Given the description of an element on the screen output the (x, y) to click on. 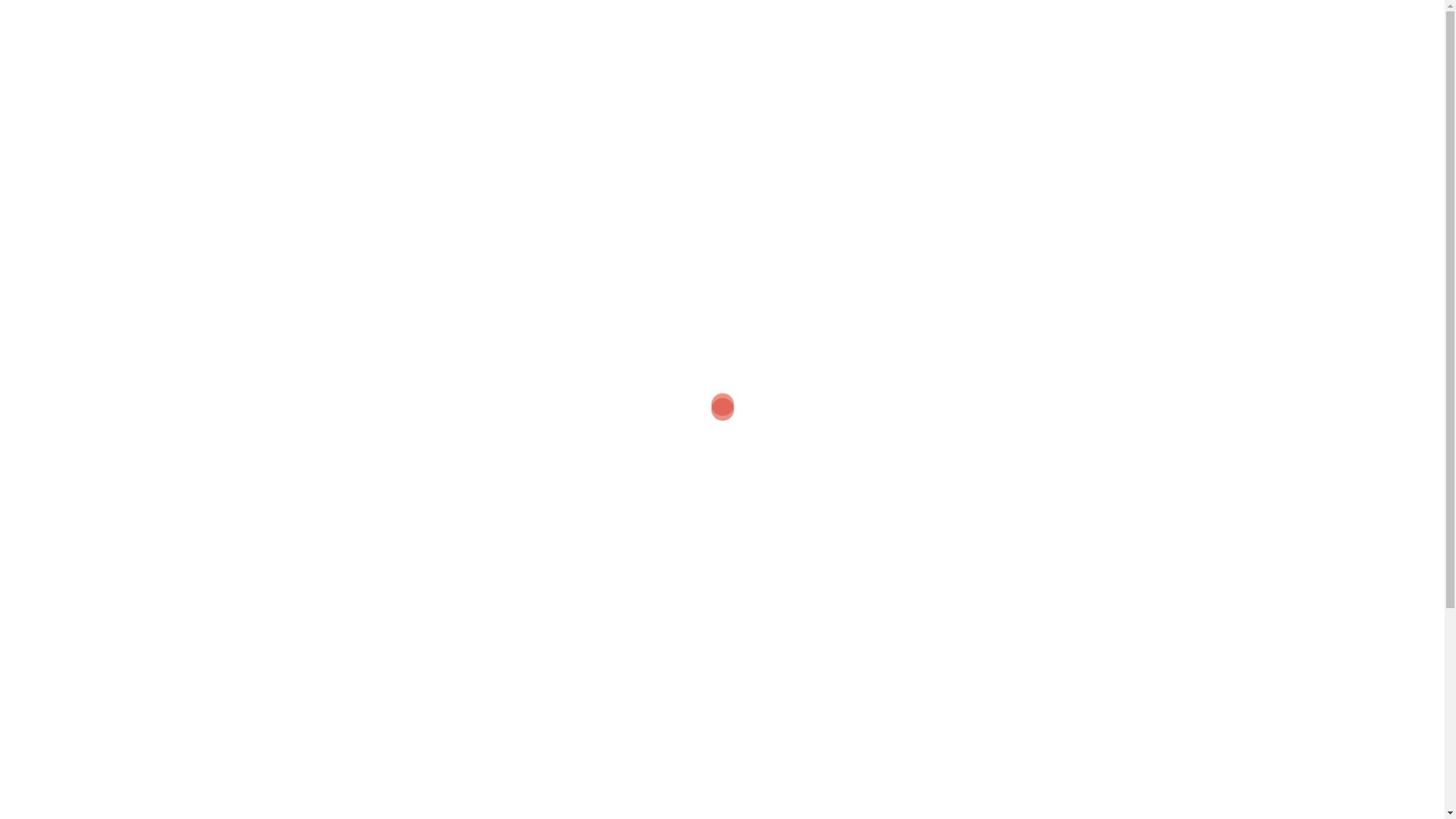
Album Element type: text (769, 107)
Diary Element type: text (717, 107)
Link Element type: text (1045, 107)
Results Element type: text (321, 768)
Activity log Element type: text (330, 740)
News Element type: text (403, 107)
Follow @hit_golfteam Element type: text (648, 607)
Recruit Element type: text (663, 107)
ACTIVITY LOG Element type: text (360, 68)
Member Element type: text (462, 107)
Member Element type: text (323, 635)
Results Element type: text (604, 107)
HGT News Letter Element type: text (968, 107)
2019hit.golf@gmail.com Element type: text (677, 720)
Recruit Element type: text (320, 796)
News Element type: text (315, 607)
Activity log Element type: text (534, 107)
